Given the description of an element on the screen output the (x, y) to click on. 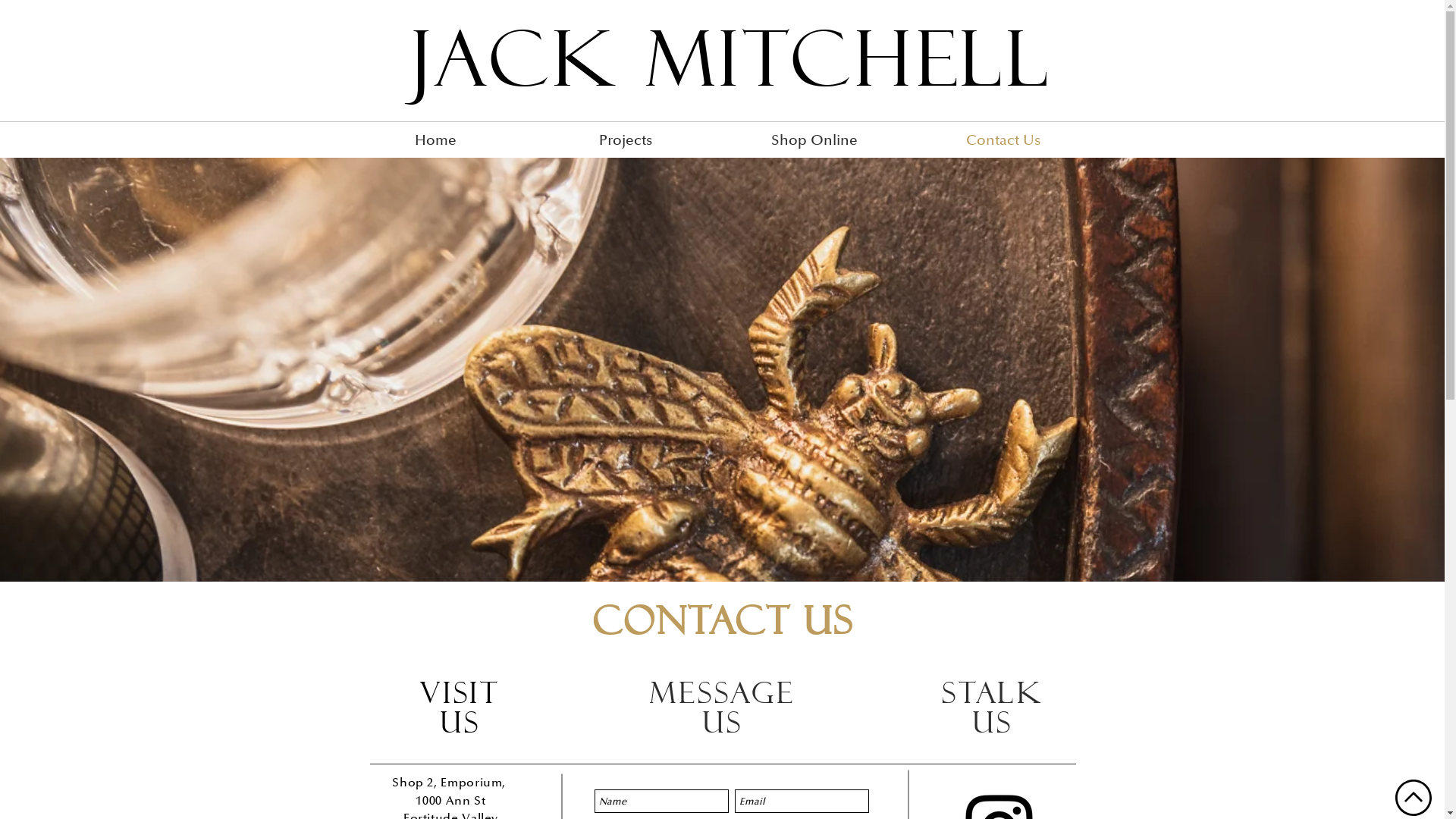
Contact Us Element type: text (1002, 139)
Projects Element type: text (625, 139)
Online Store Element type: hover (1384, 61)
Shop Online Element type: text (814, 139)
JACK MITCHELL Element type: text (731, 58)
Home Element type: text (435, 139)
